Given the description of an element on the screen output the (x, y) to click on. 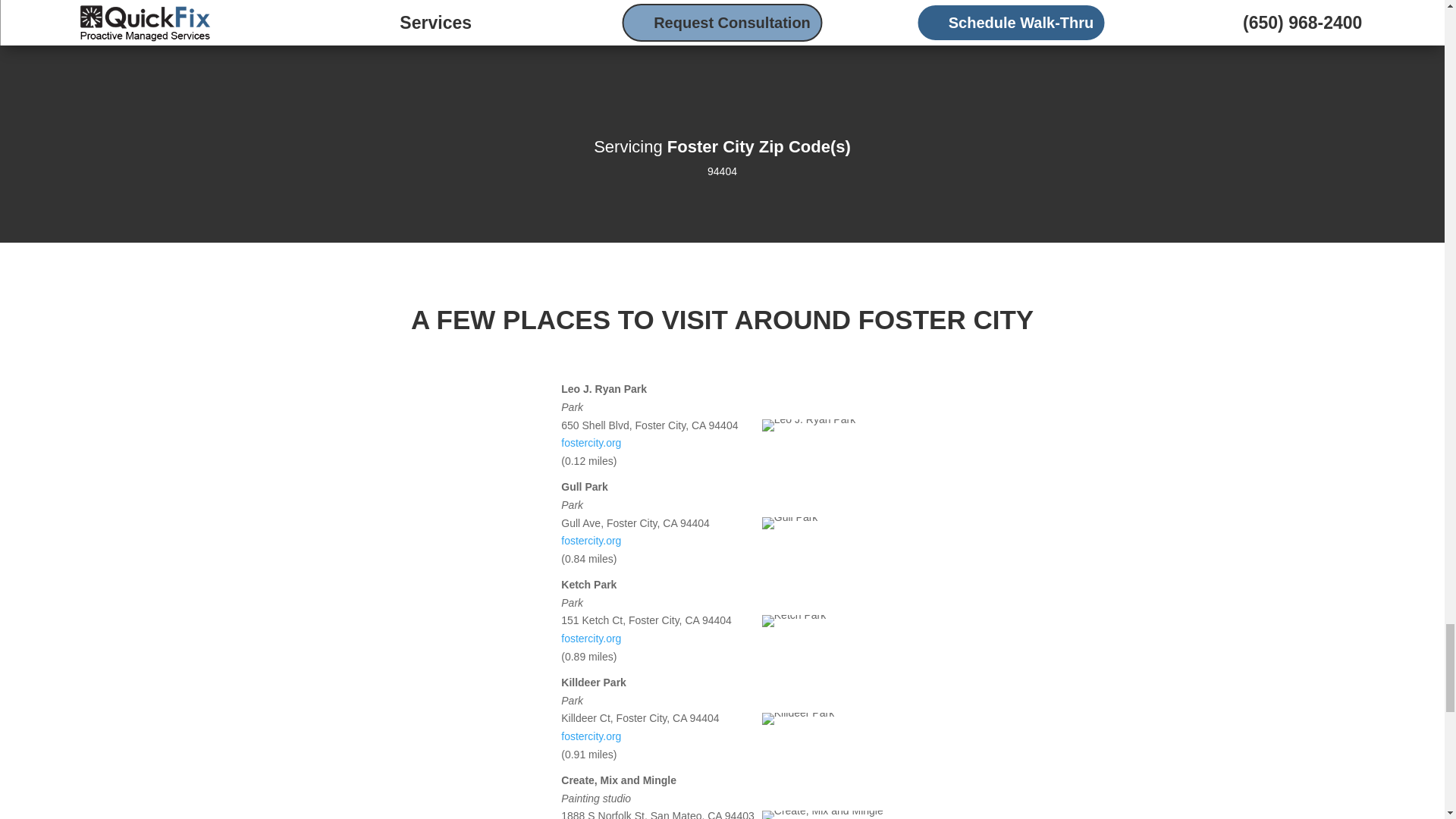
fostercity.org (590, 442)
fostercity.org (590, 540)
fostercity.org (590, 736)
fostercity.org (590, 638)
